Given the description of an element on the screen output the (x, y) to click on. 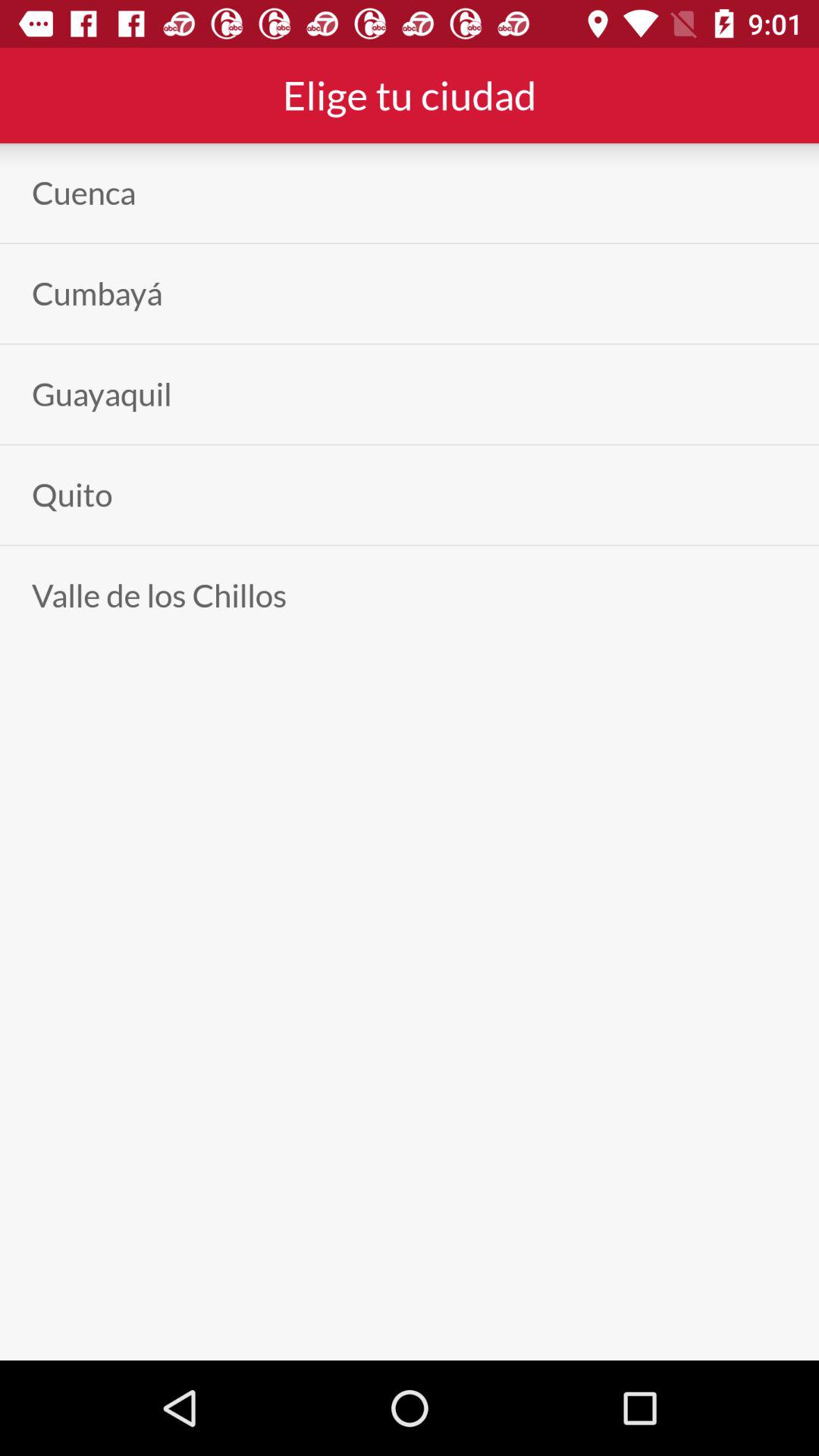
click the item below the guayaquil icon (71, 495)
